Given the description of an element on the screen output the (x, y) to click on. 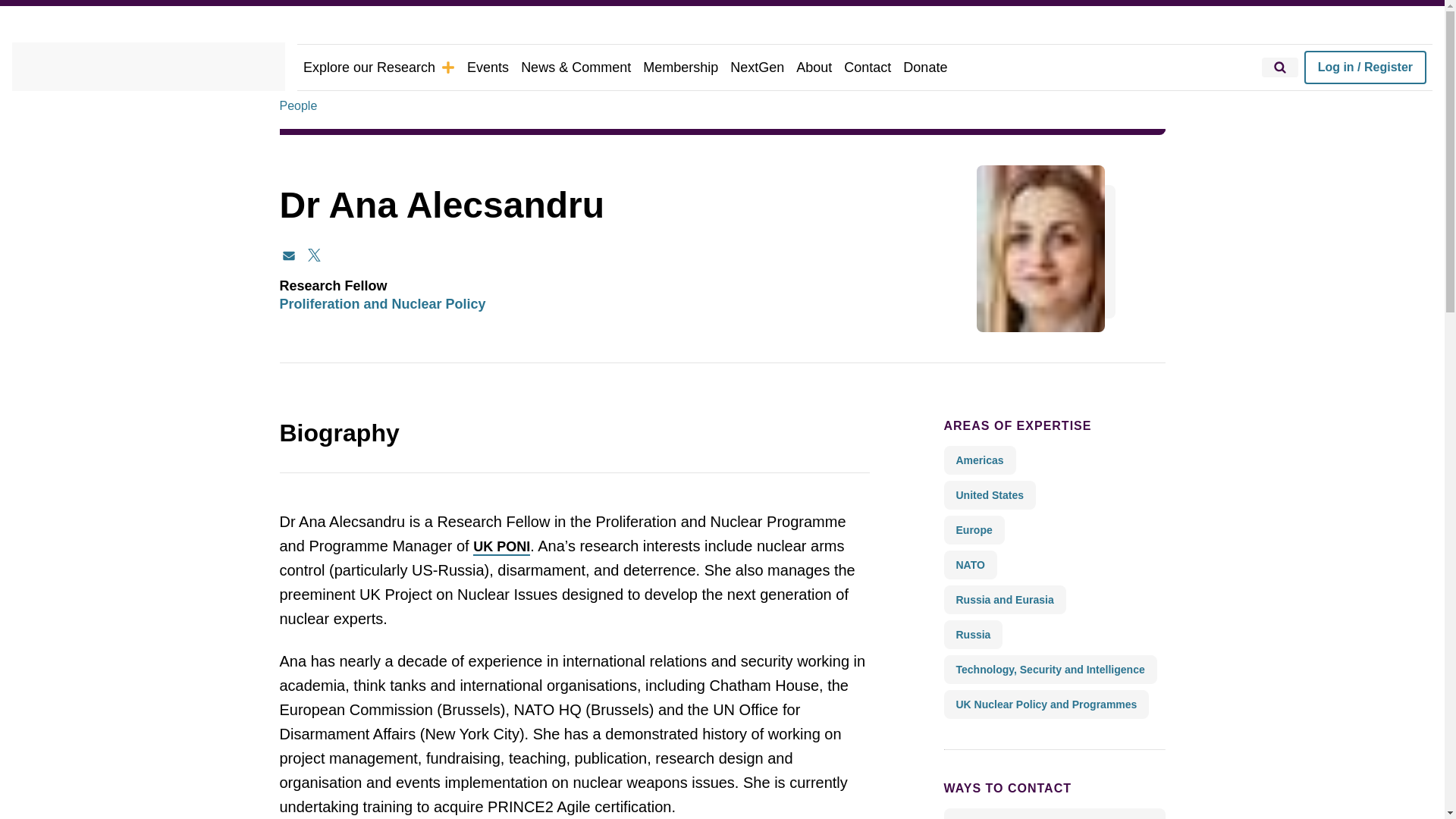
NextGen (756, 67)
Membership (680, 67)
Events (488, 67)
Americas (978, 460)
Log in (1365, 67)
Search RUSI (1280, 66)
UK PONI (501, 547)
People (298, 106)
Contact (867, 67)
About (814, 67)
Proliferation and Nuclear Policy (381, 304)
Donate (924, 67)
Explore our Research (379, 67)
